Given the description of an element on the screen output the (x, y) to click on. 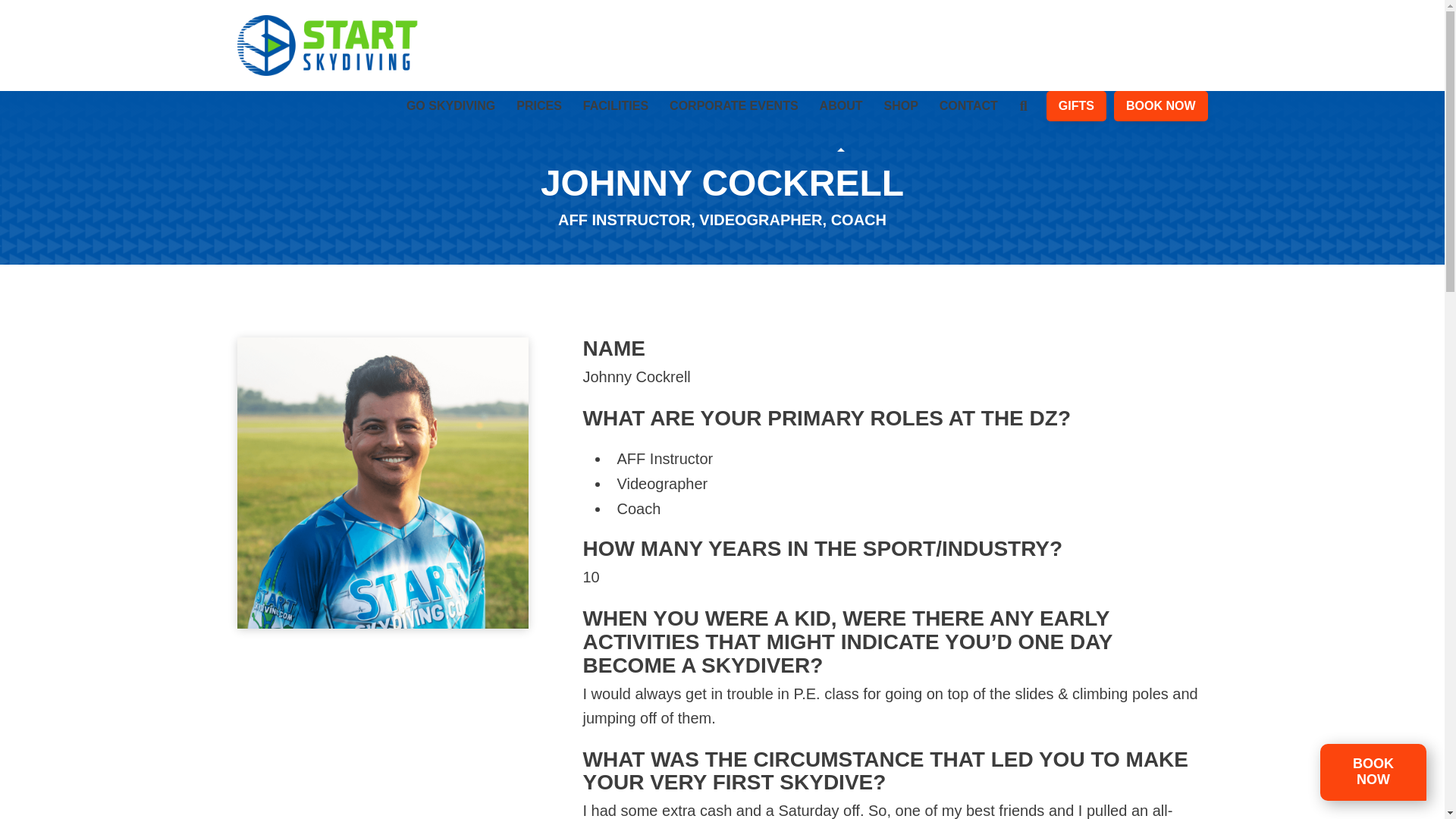
GO SKYDIVING (450, 120)
Start Skydiving (327, 45)
FACILITIES (615, 120)
PRICES (538, 120)
